Given the description of an element on the screen output the (x, y) to click on. 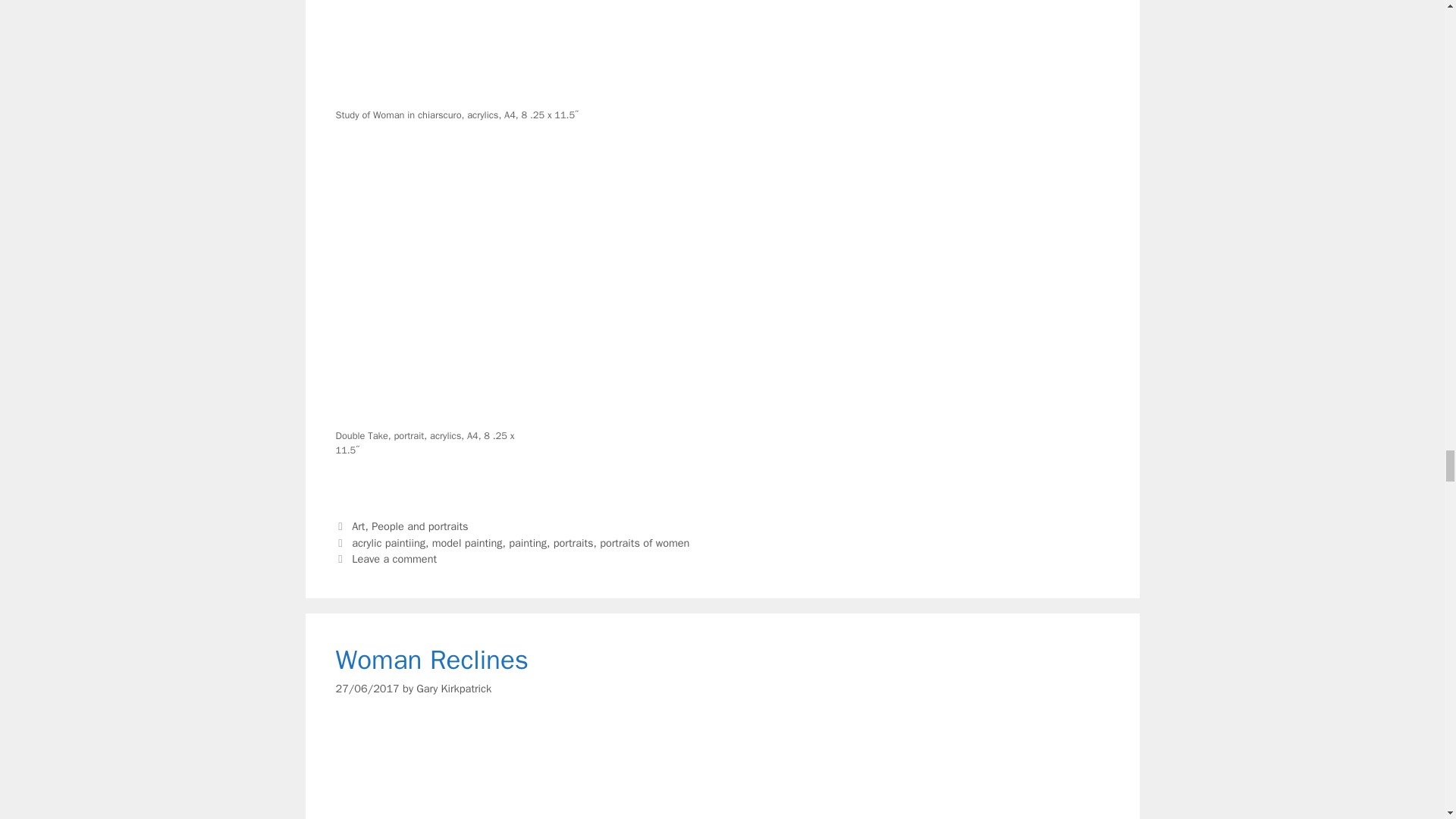
View all posts by Gary Kirkpatrick (454, 688)
